Given the description of an element on the screen output the (x, y) to click on. 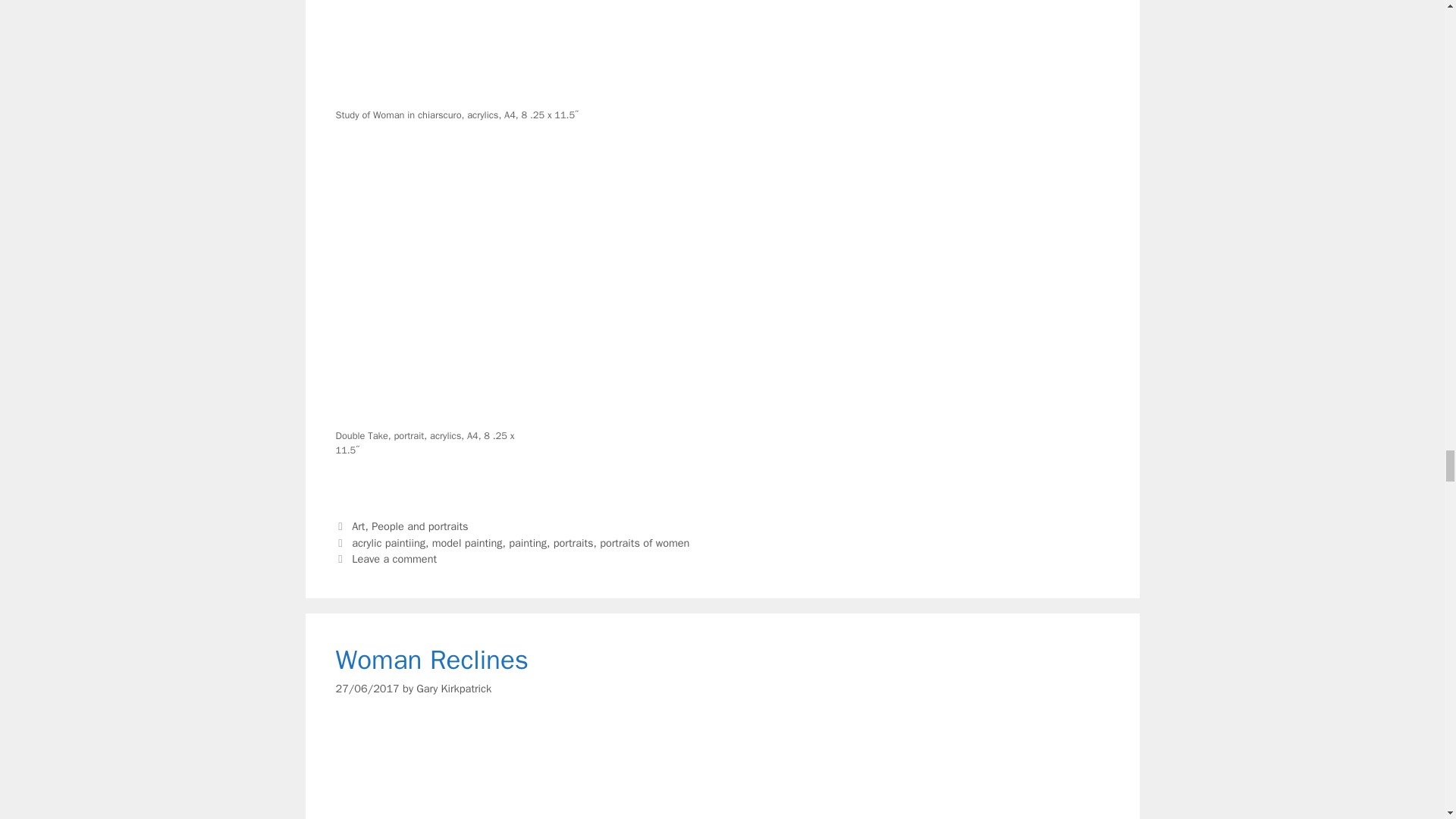
View all posts by Gary Kirkpatrick (454, 688)
